Given the description of an element on the screen output the (x, y) to click on. 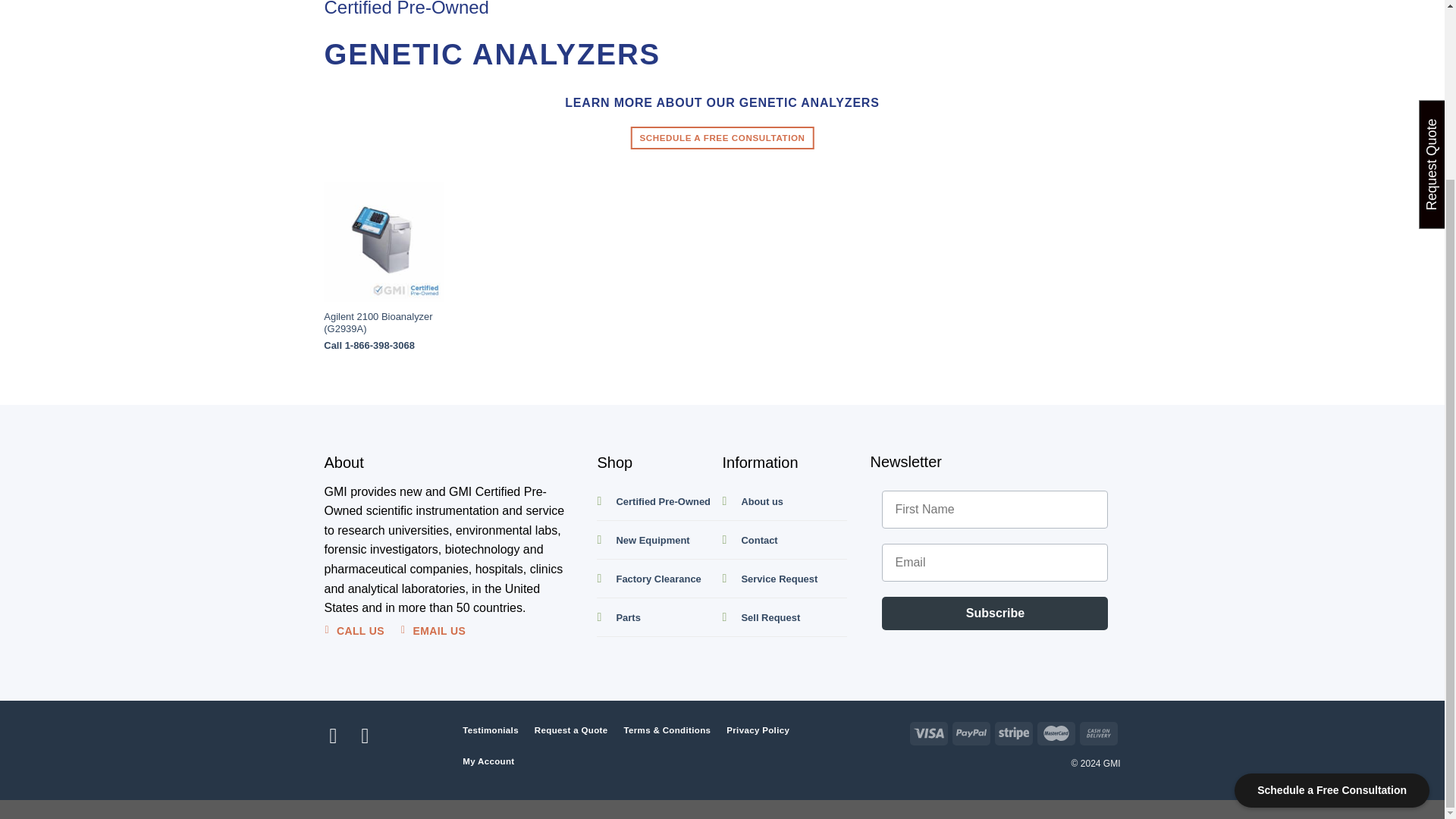
Follow on LinkedIn (339, 735)
Follow on YouTube (371, 735)
